Given the description of an element on the screen output the (x, y) to click on. 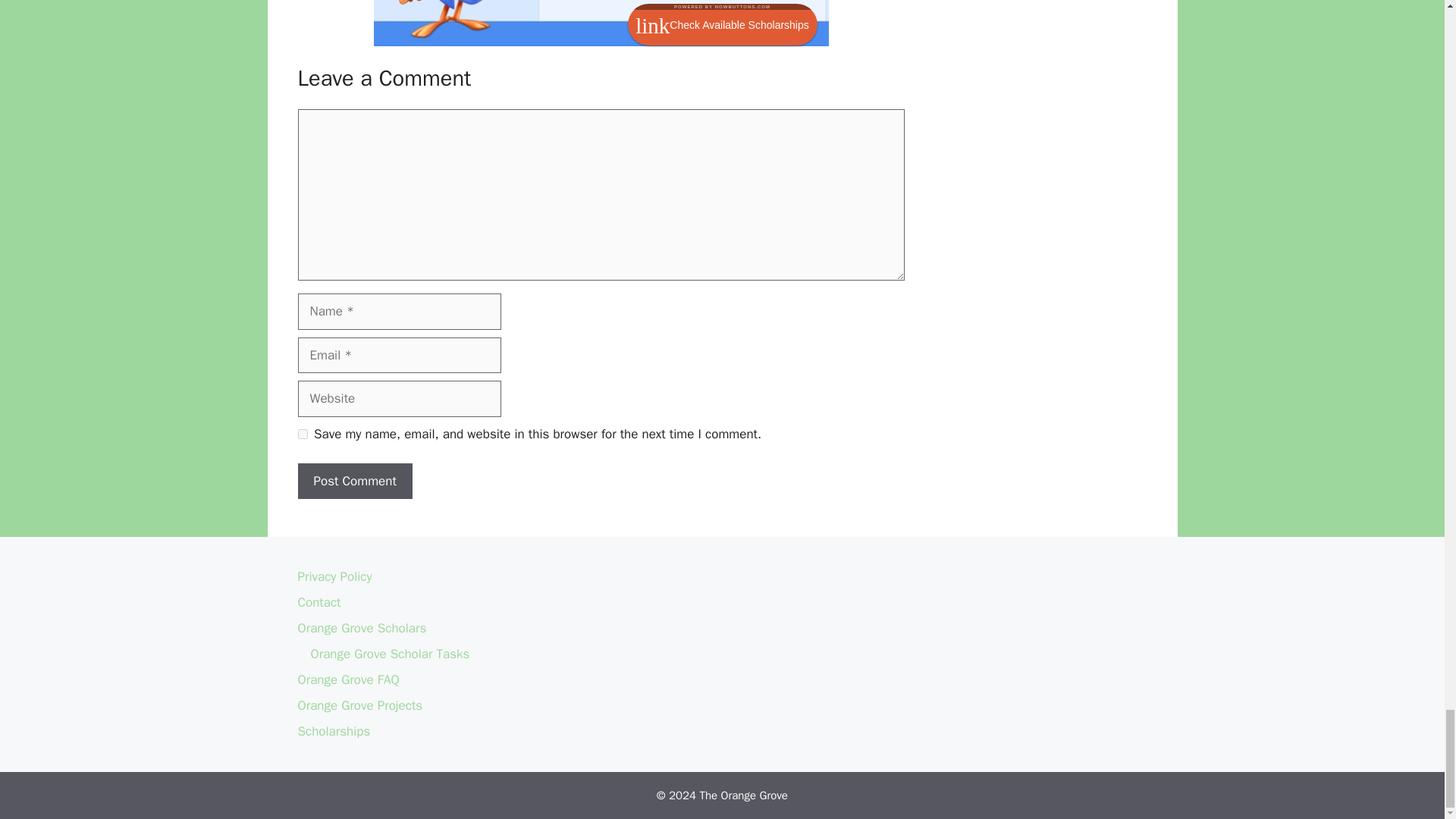
Post Comment (354, 481)
yes (302, 433)
Post Comment (354, 481)
